Given the description of an element on the screen output the (x, y) to click on. 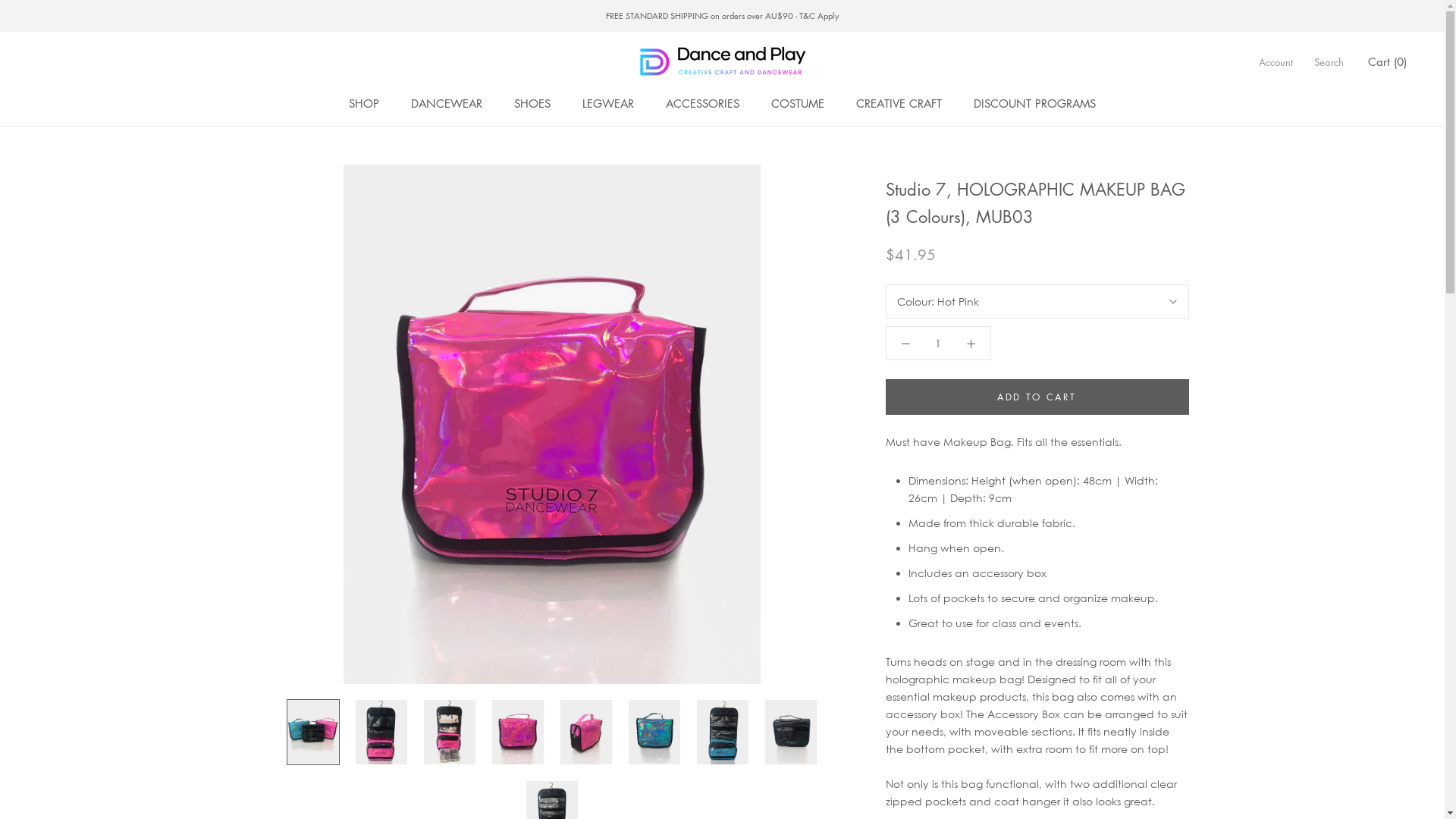
COSTUME
COSTUME Element type: text (797, 102)
Search Element type: text (1328, 61)
Colour: Hot Pink Element type: text (1037, 301)
Cart (0) Element type: text (1387, 61)
SHOES Element type: text (532, 102)
ACCESSORIES Element type: text (702, 102)
Account Element type: text (1275, 61)
SHOP
SHOP Element type: text (363, 102)
ADD TO CART Element type: text (1037, 396)
CREATIVE CRAFT
CREATIVE CRAFT Element type: text (898, 102)
LEGWEAR Element type: text (607, 102)
DISCOUNT PROGRAMS Element type: text (1034, 102)
FREE STANDARD SHIPPING on orders over AU$90 - T&C Apply Element type: text (721, 15)
DANCEWEAR Element type: text (446, 102)
